Given the description of an element on the screen output the (x, y) to click on. 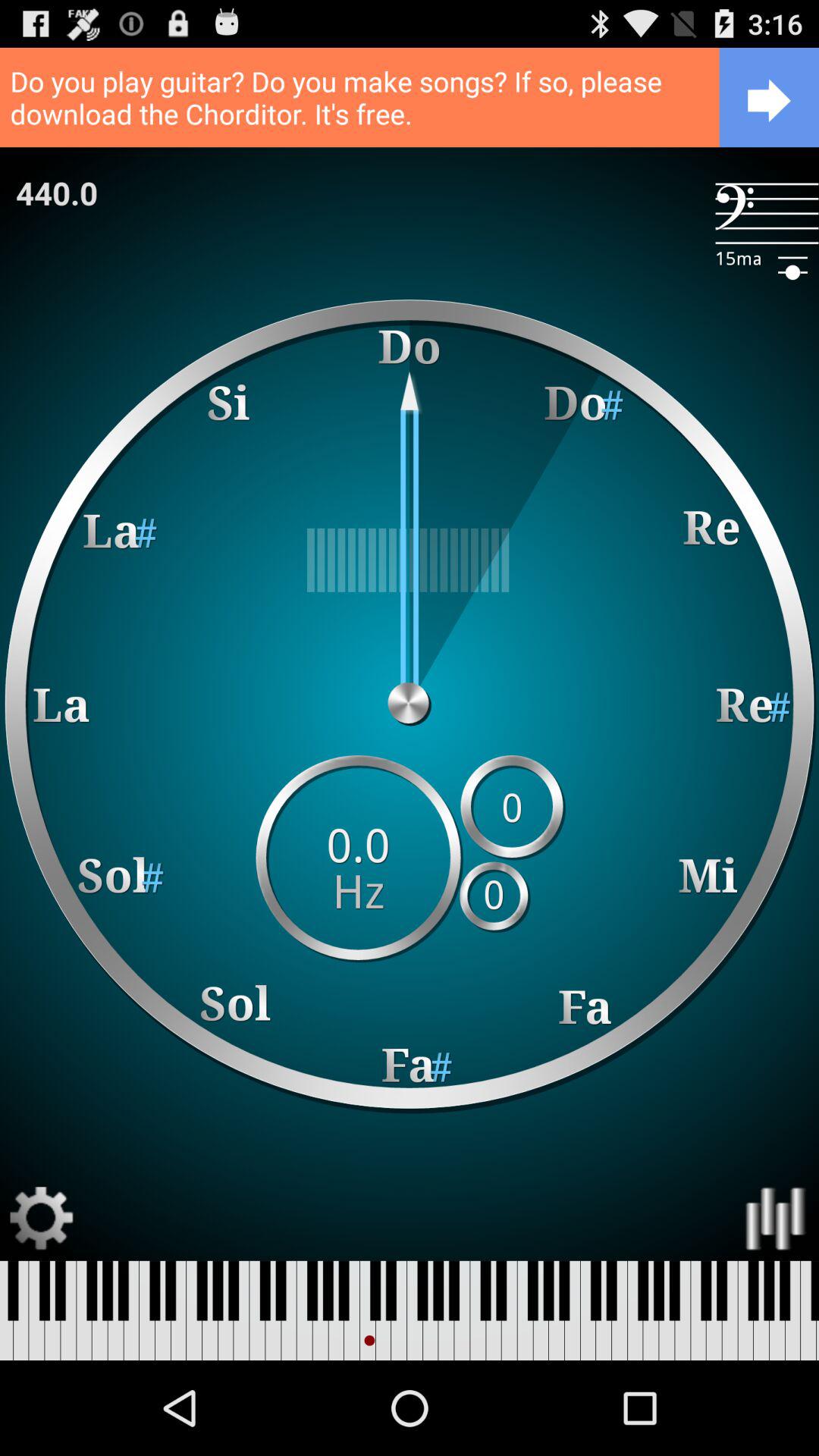
turn on item at the bottom left corner (42, 1218)
